Given the description of an element on the screen output the (x, y) to click on. 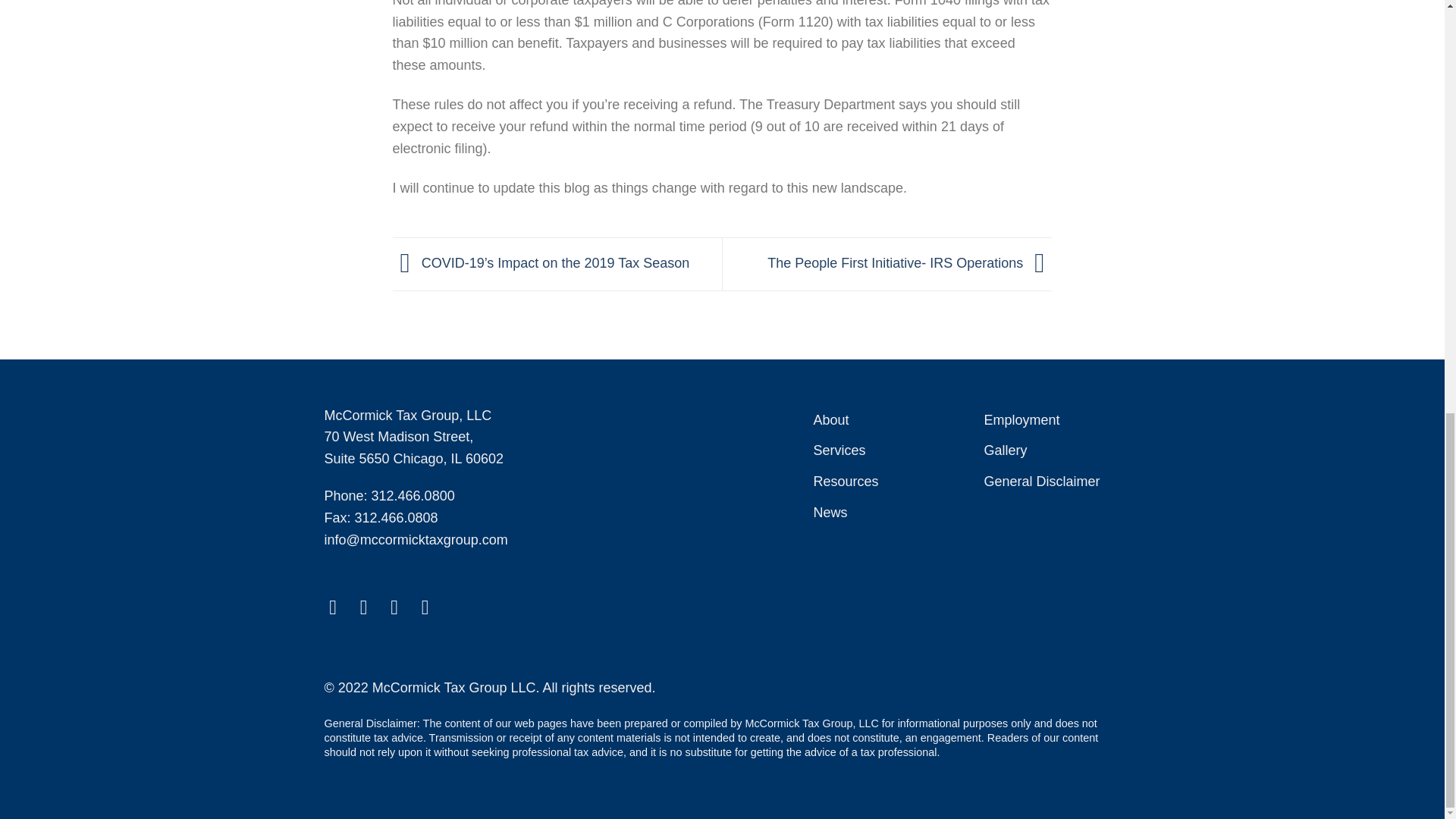
Employment (1021, 419)
Follow on Twitter (369, 607)
Send us an email (400, 607)
News (829, 512)
Services (838, 450)
Follow on LinkedIn (432, 607)
Resources (844, 481)
Follow on Facebook (339, 607)
Gallery (1005, 450)
About (830, 419)
General Disclaimer (1041, 481)
The People First Initiative- IRS Operations (909, 263)
